Given the description of an element on the screen output the (x, y) to click on. 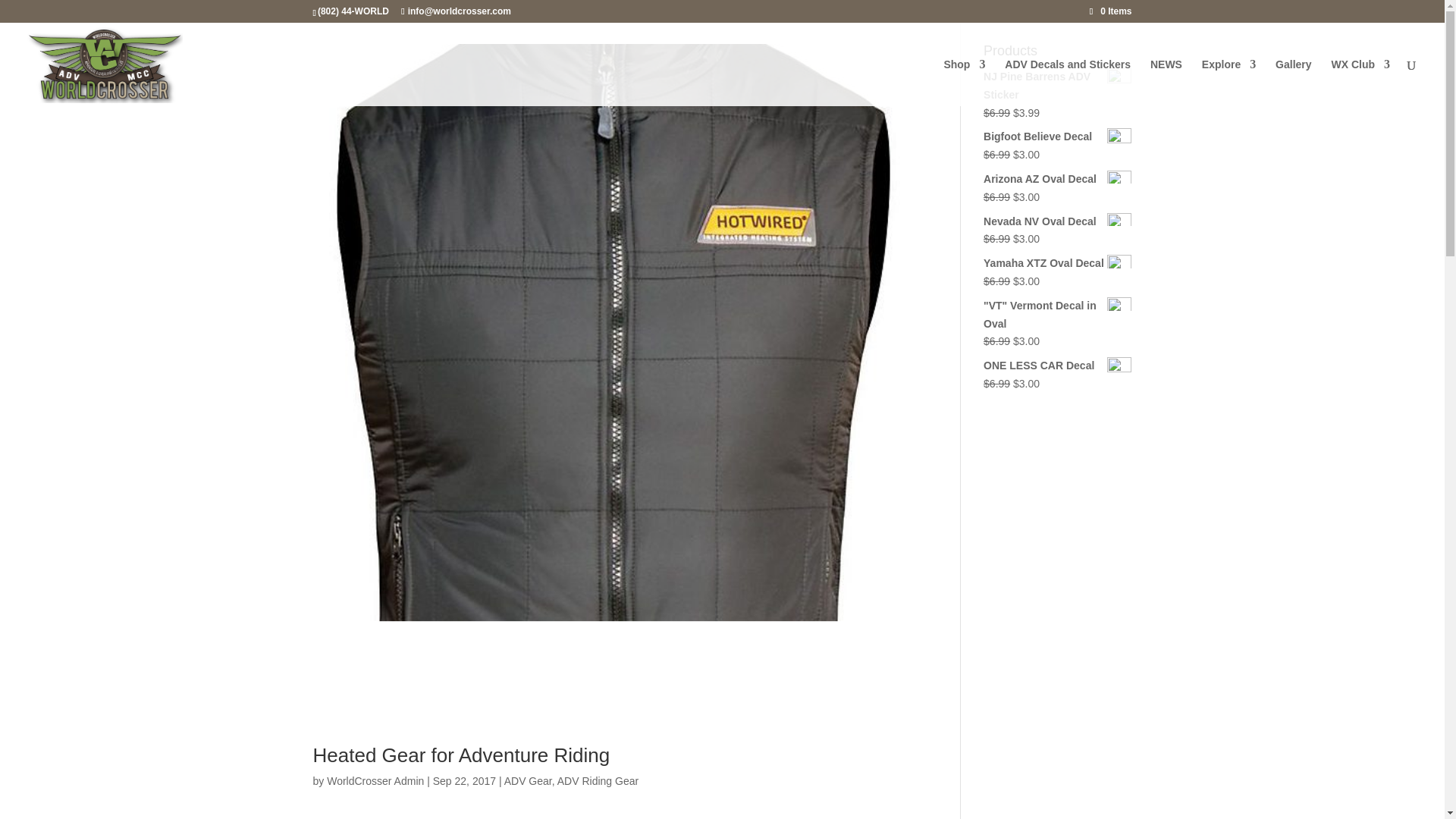
Yamaha XTZ Oval Decal (1057, 263)
Nevada NV Oval Decal (1057, 221)
"VT" Vermont Decal in Oval (1057, 315)
Bigfoot Believe Decal (1057, 136)
ONE LESS CAR Decal (1057, 366)
Arizona AZ Oval Decal (1057, 179)
Posts by WorldCrosser Admin (374, 780)
ADV Riding Gear (598, 780)
NJ Pine Barrens ADV Sticker (1057, 85)
ADV Gear (527, 780)
0 Items (1110, 10)
Explore (1228, 82)
Heated Gear for Adventure Riding (461, 754)
WX Club (1360, 82)
ADV Decals and Stickers (1067, 82)
